Given the description of an element on the screen output the (x, y) to click on. 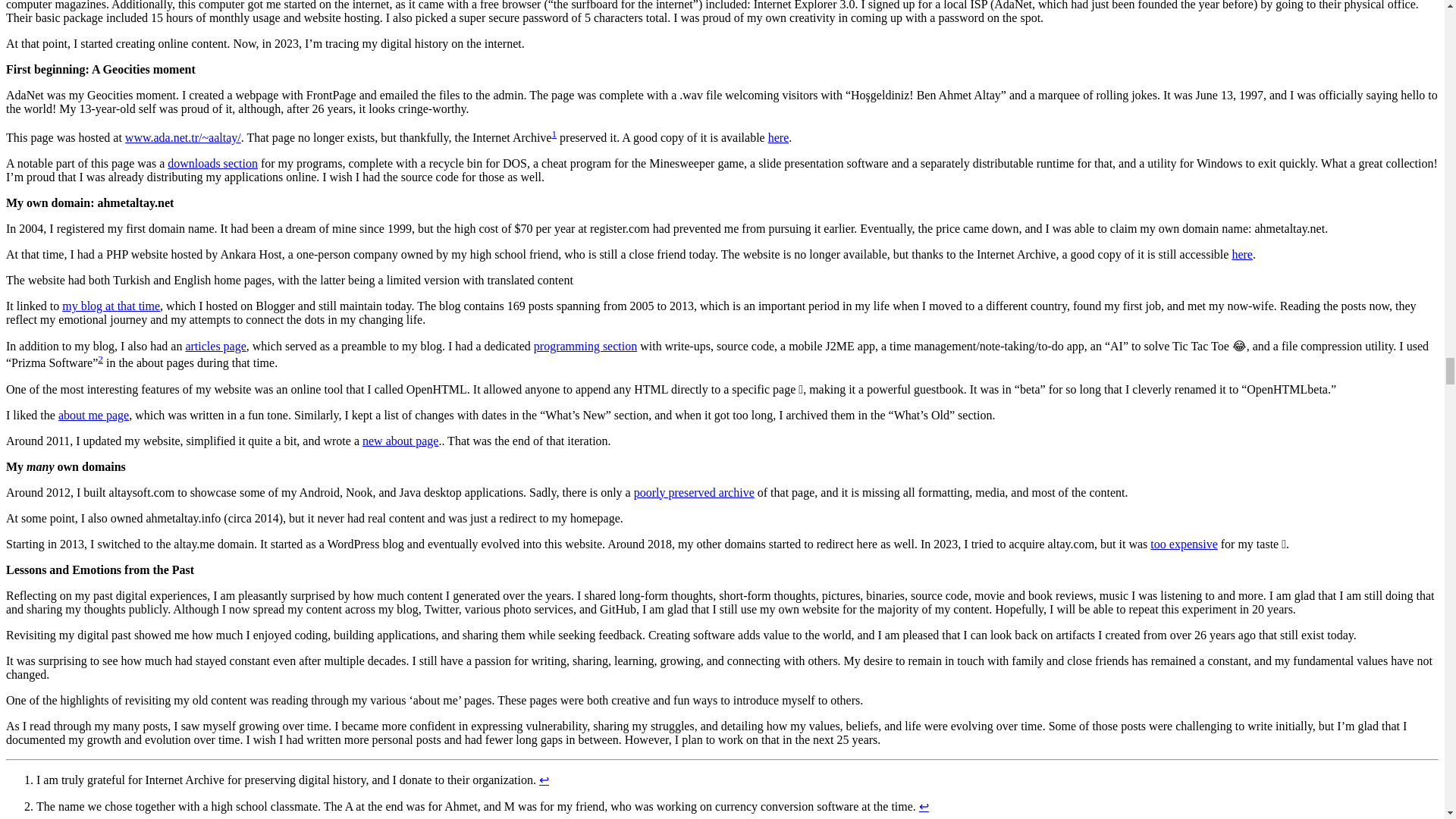
new about page (400, 440)
my blog at that time (111, 305)
here (778, 137)
here (1241, 254)
downloads section (212, 163)
poorly preserved archive (693, 492)
programming section (585, 345)
articles page (215, 345)
about me page (93, 414)
too expensive (1183, 543)
